Given the description of an element on the screen output the (x, y) to click on. 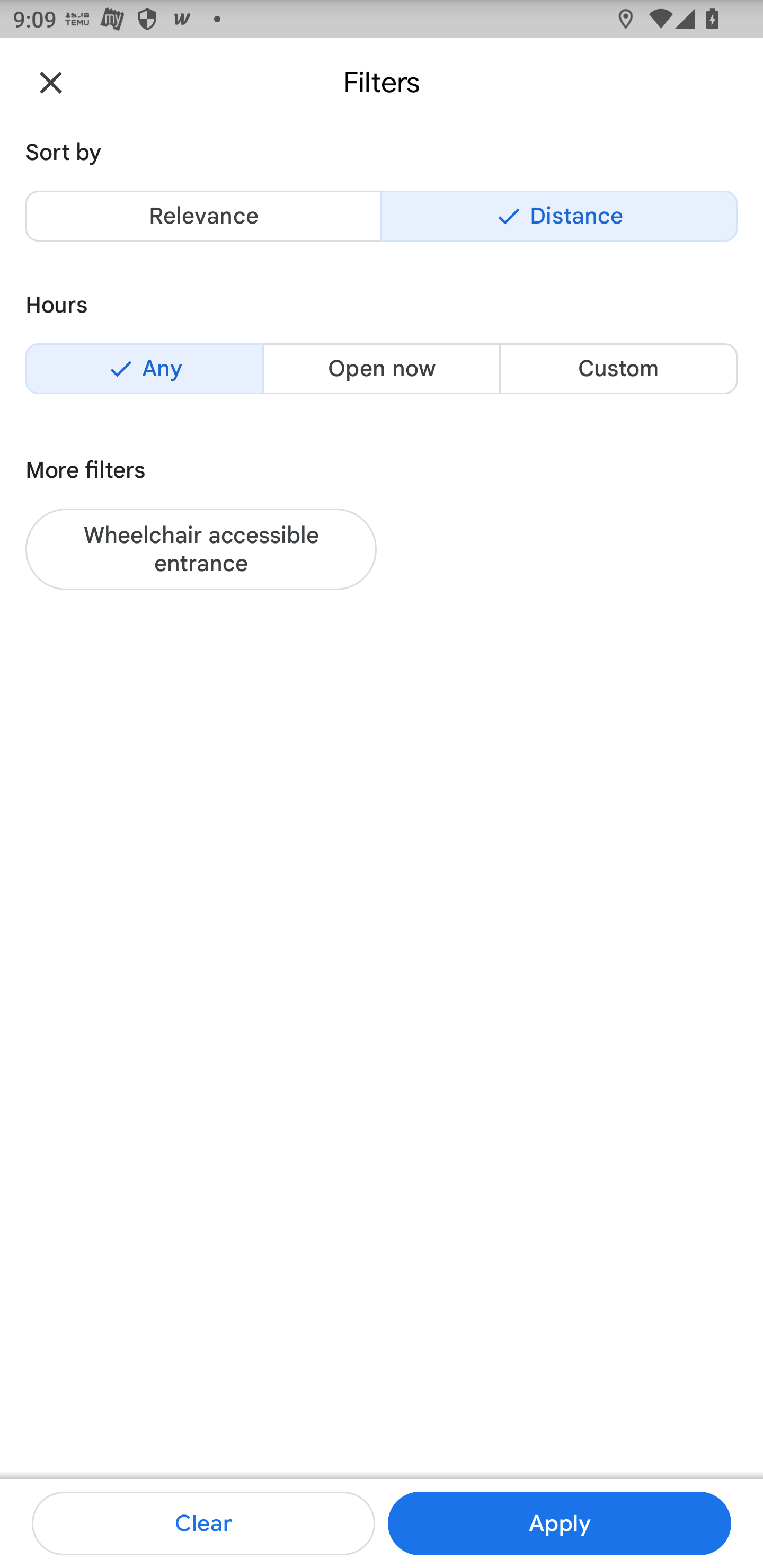
Close menu (50, 81)
Relevance (203, 216)
Distance (558, 216)
Any (144, 368)
Open now (381, 368)
Custom (618, 368)
Wheelchair accessible entrance (200, 548)
Clear Clear Clear (203, 1522)
Apply Apply Apply (558, 1522)
